Given the description of an element on the screen output the (x, y) to click on. 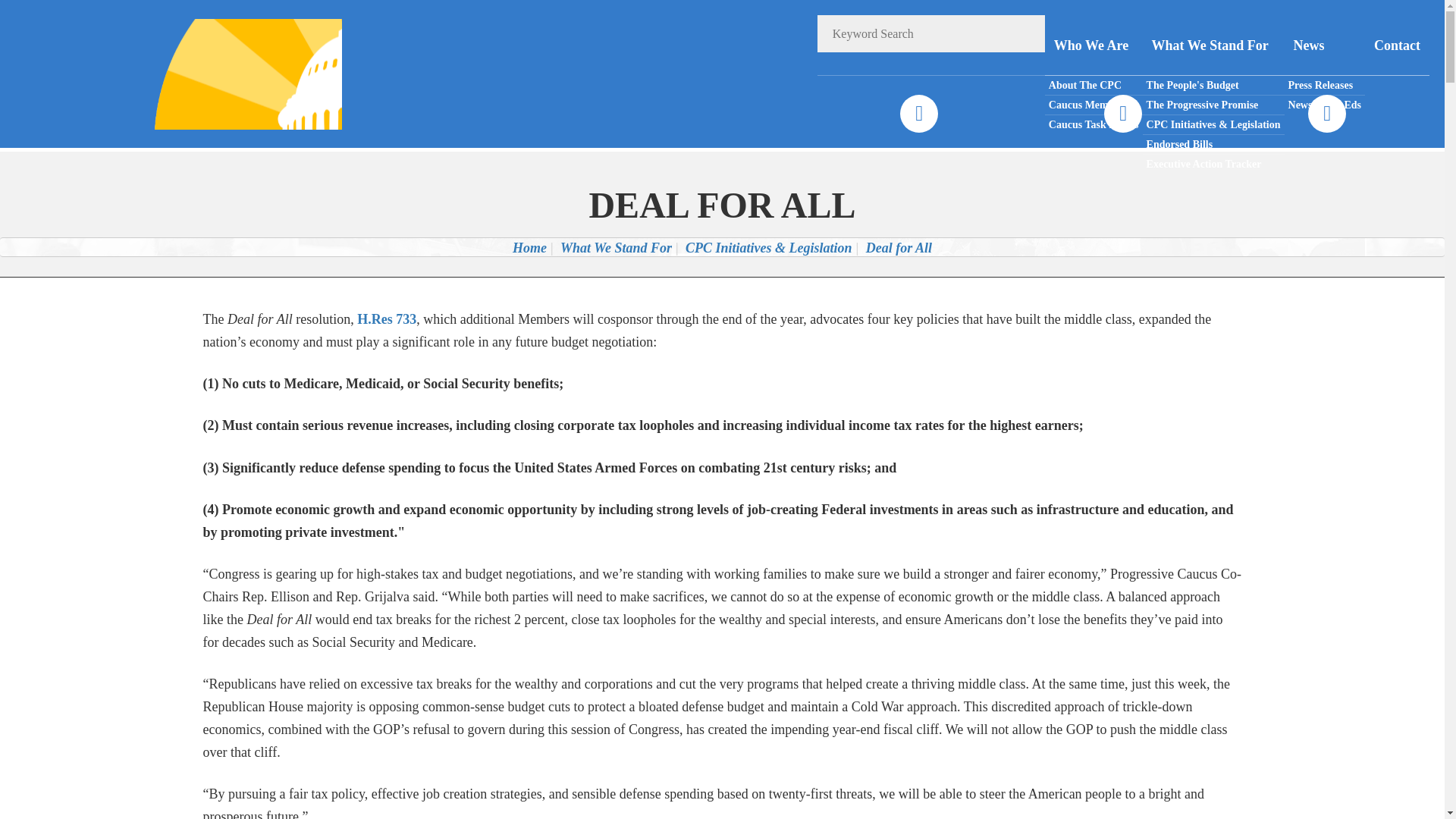
About The CPC (1093, 85)
What We Stand For (1213, 45)
What We Stand For (615, 247)
CONGRESSIONAL PROGRESSIVE CAUCUS (228, 73)
Press Releases (1324, 85)
Caucus Task Forces (1093, 124)
Facebook (918, 113)
YouTube (1326, 113)
Go (1026, 33)
Who We Are (1093, 45)
